Given the description of an element on the screen output the (x, y) to click on. 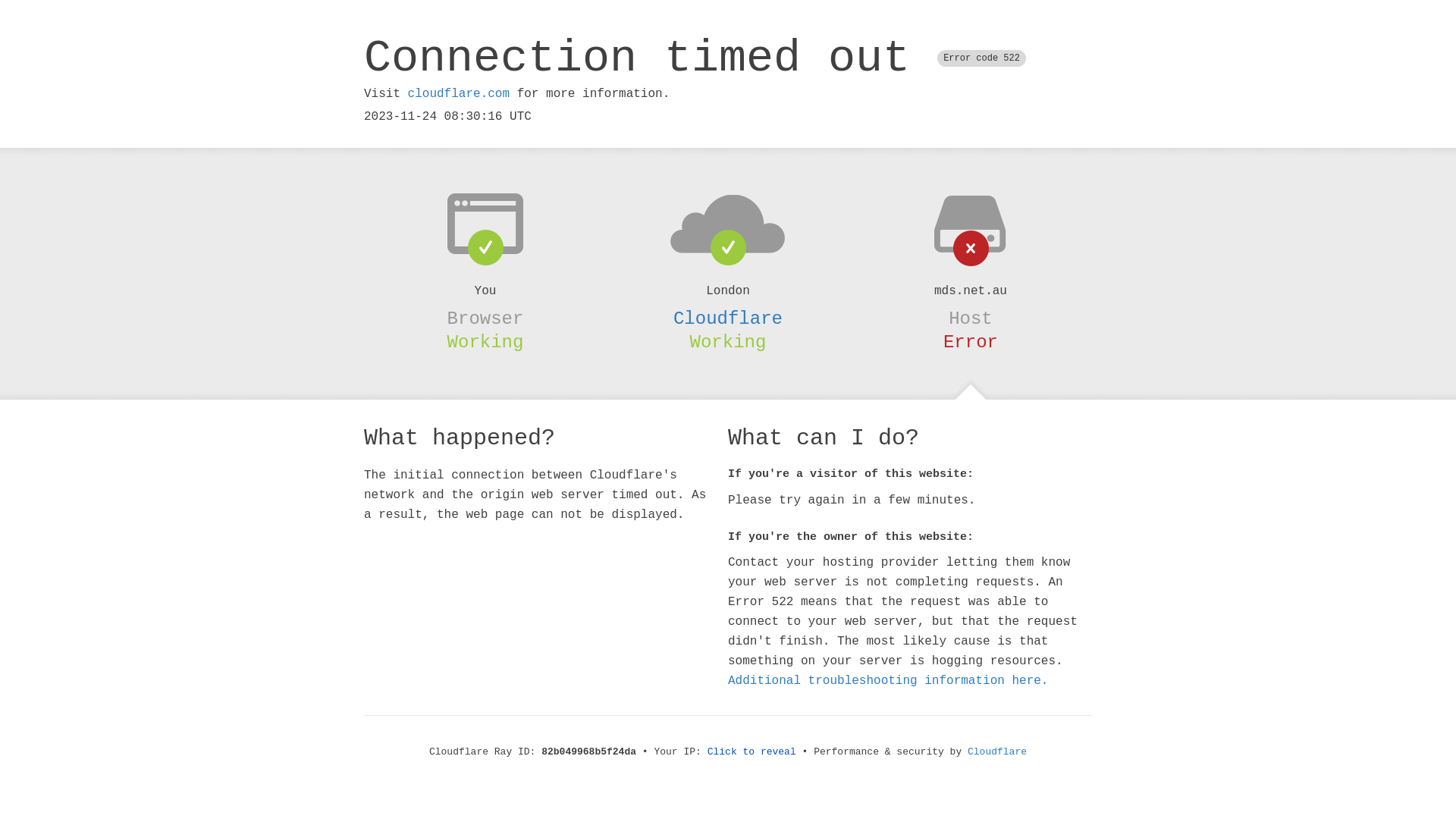
Cloudflare Element type: text (996, 751)
Additional troubleshooting information here. Element type: text (888, 680)
Click to reveal Element type: text (751, 751)
cloudflare.com Element type: text (458, 93)
Cloudflare Element type: text (727, 318)
